Given the description of an element on the screen output the (x, y) to click on. 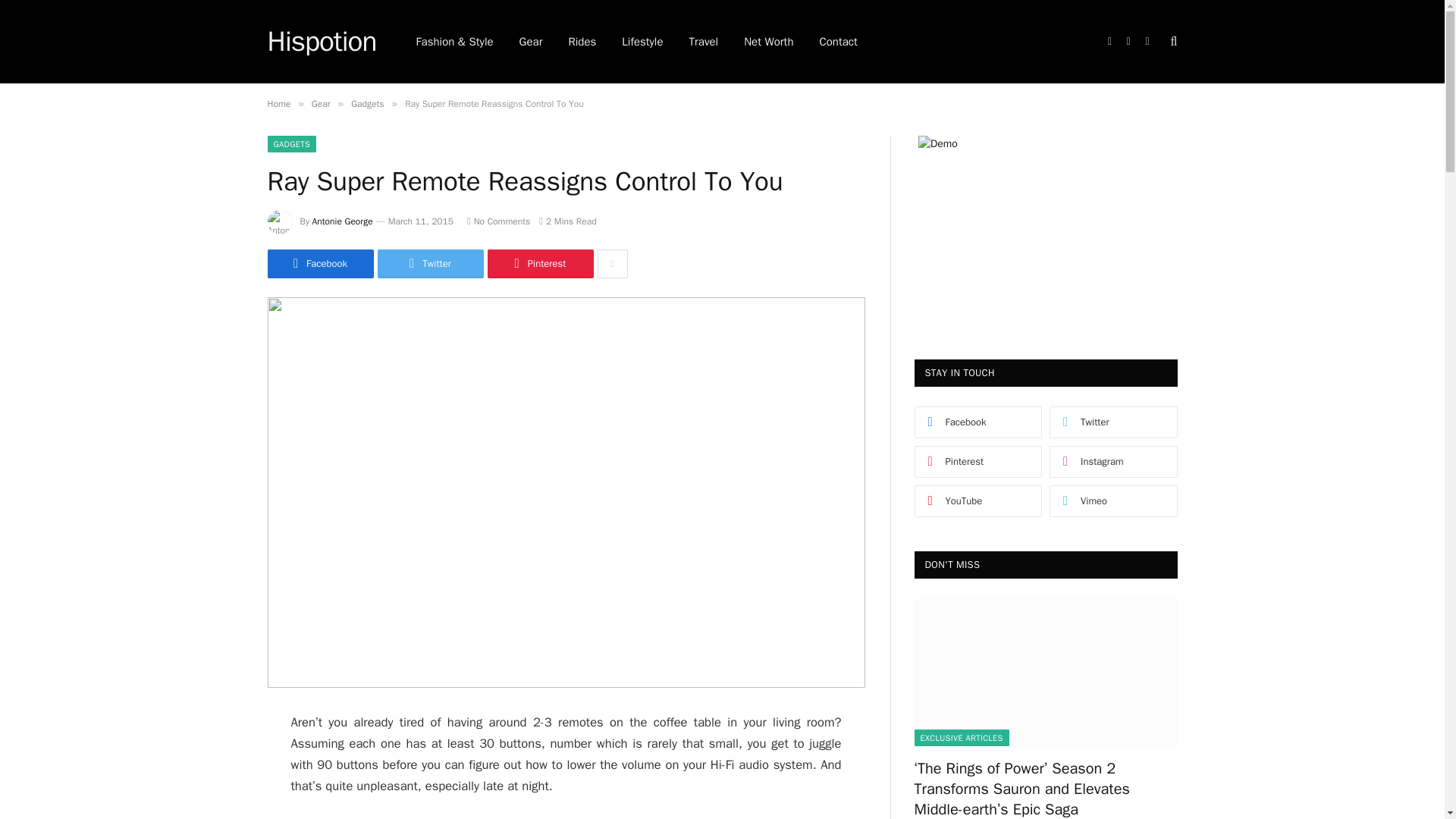
No Comments (498, 221)
Antonie George (342, 221)
Gadgets (367, 103)
Facebook (319, 263)
Net Worth (768, 41)
Gear (320, 103)
Share on Facebook (319, 263)
Pinterest (539, 263)
Hispotion (320, 41)
Share on Pinterest (539, 263)
